Given the description of an element on the screen output the (x, y) to click on. 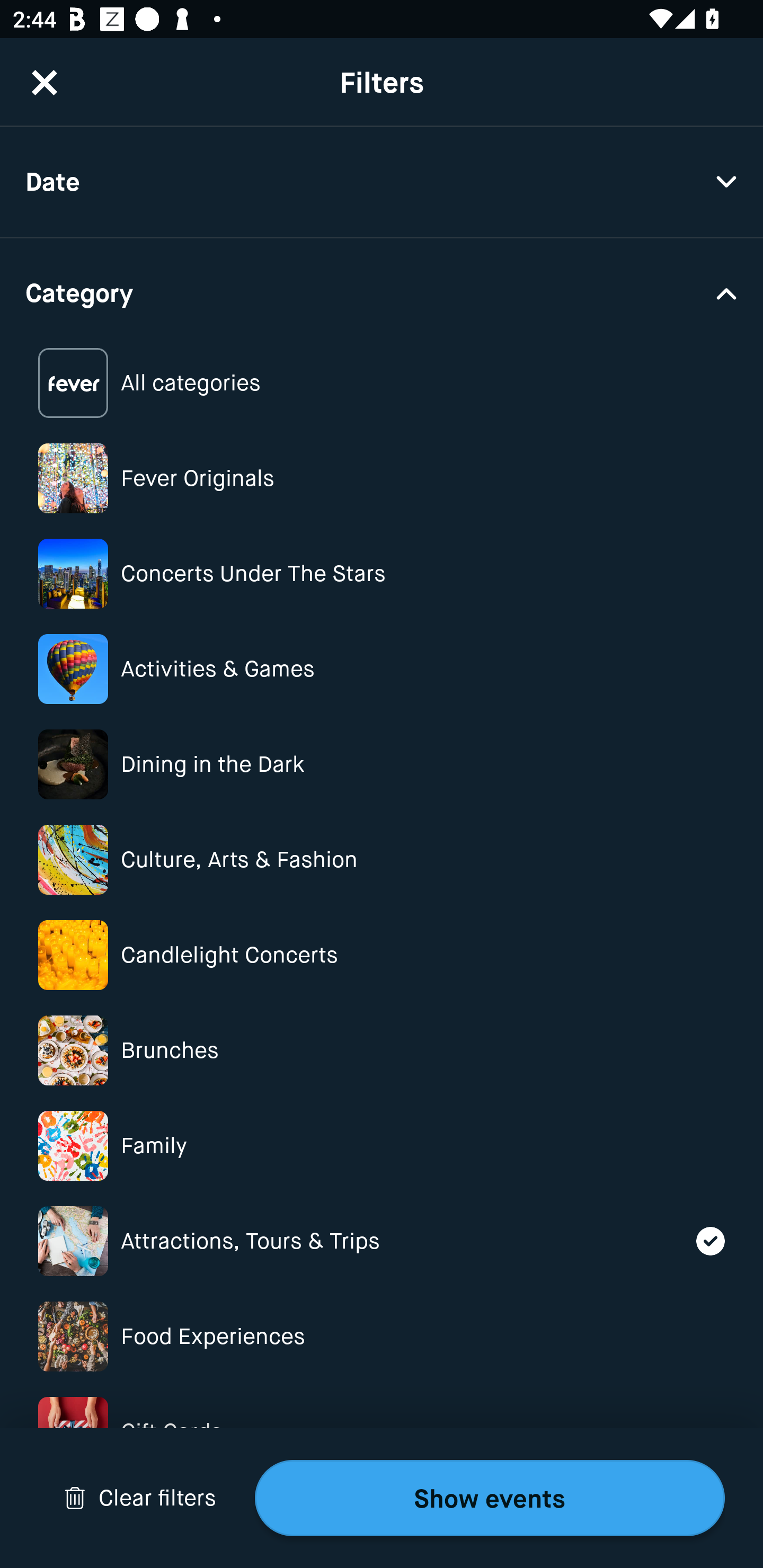
CloseButton (44, 82)
Date Drop Down Arrow (381, 182)
Category Drop Down Arrow (381, 291)
Category Image All categories (381, 382)
Category Image Fever Originals (381, 477)
Category Image Concerts Under The Stars (381, 573)
Category Image Activities & Games (381, 668)
Category Image Dining in the Dark (381, 763)
Category Image Culture, Arts & Fashion (381, 859)
Category Image Candlelight Concerts (381, 954)
Category Image Brunches (381, 1050)
Category Image Family (381, 1145)
Category Image Food Experiences (381, 1336)
Drop Down Arrow Clear filters (139, 1497)
Show events (489, 1497)
